Given the description of an element on the screen output the (x, y) to click on. 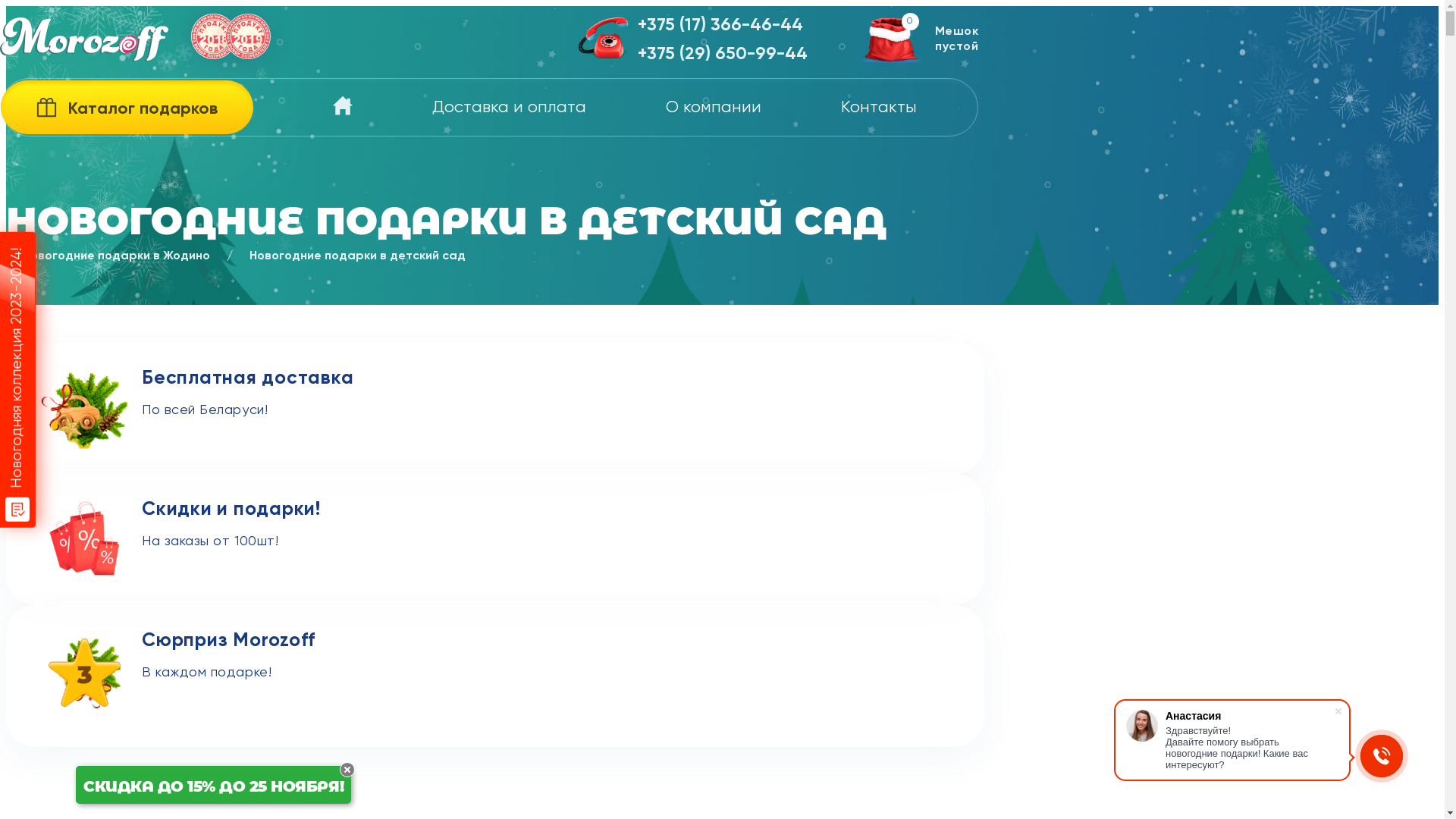
+375 (29) 650-99-44 Element type: text (722, 53)
+375 (17) 366-46-44 Element type: text (722, 25)
